Given the description of an element on the screen output the (x, y) to click on. 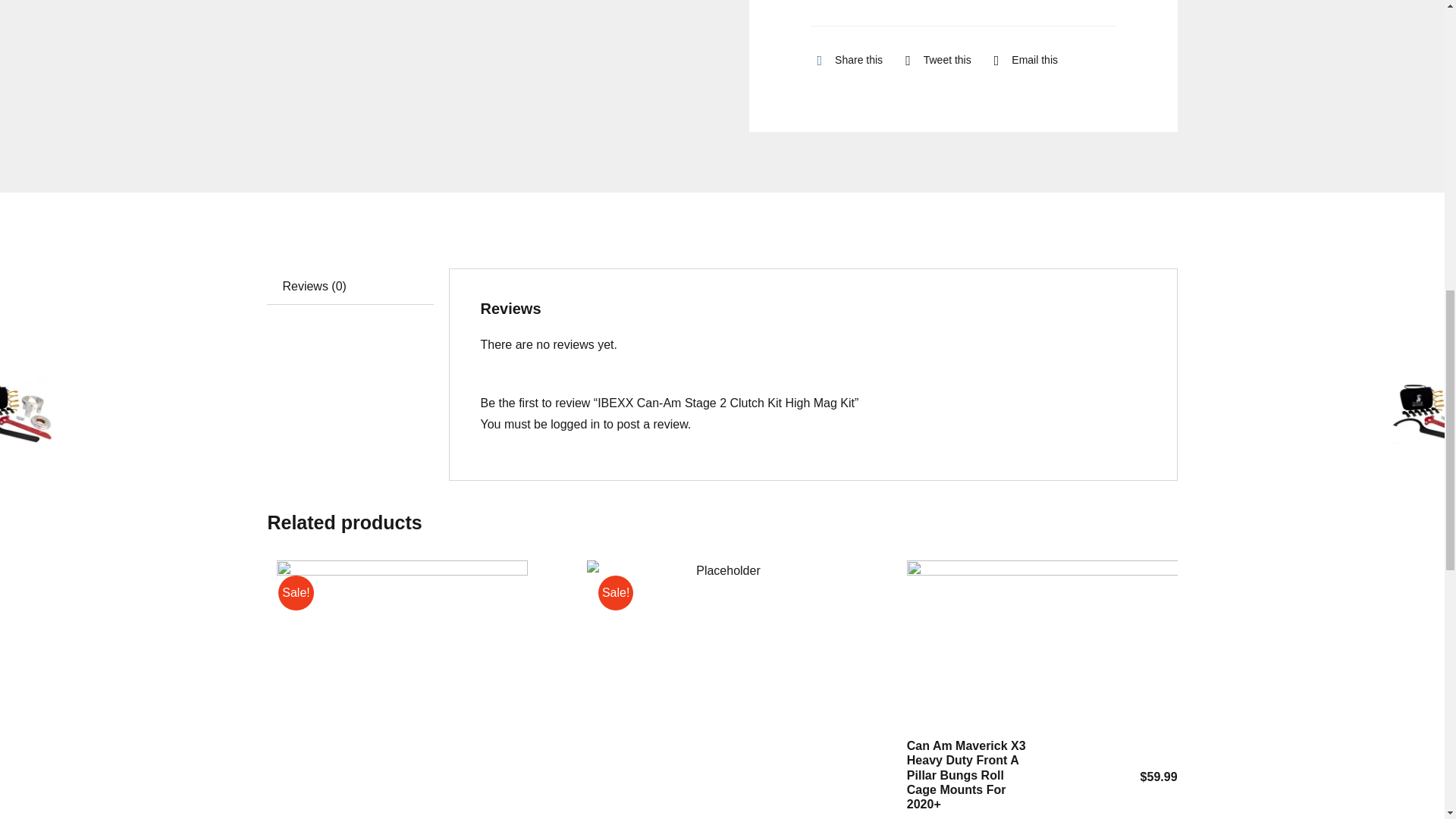
X3 Door Mounted Side Mirrors (721, 689)
Twitter (934, 60)
Coolant Reservoir for Can Am 709200998, 709200412, 709200163 (401, 689)
Email (1022, 60)
Tweet this (934, 60)
logged in (574, 422)
Email this (1022, 60)
Facebook (846, 60)
Share this (846, 60)
